Given the description of an element on the screen output the (x, y) to click on. 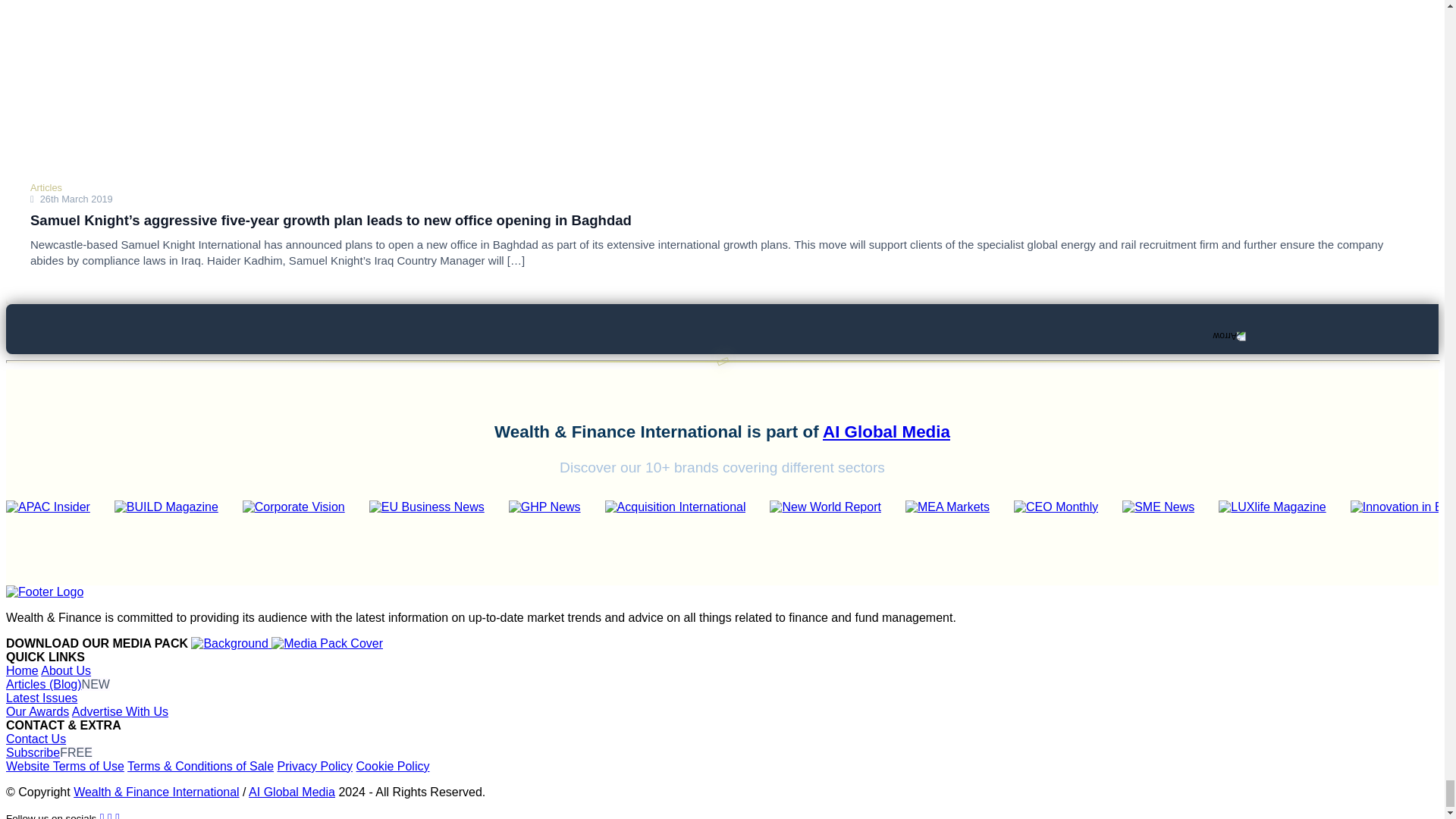
APAC Insider (47, 524)
